Given the description of an element on the screen output the (x, y) to click on. 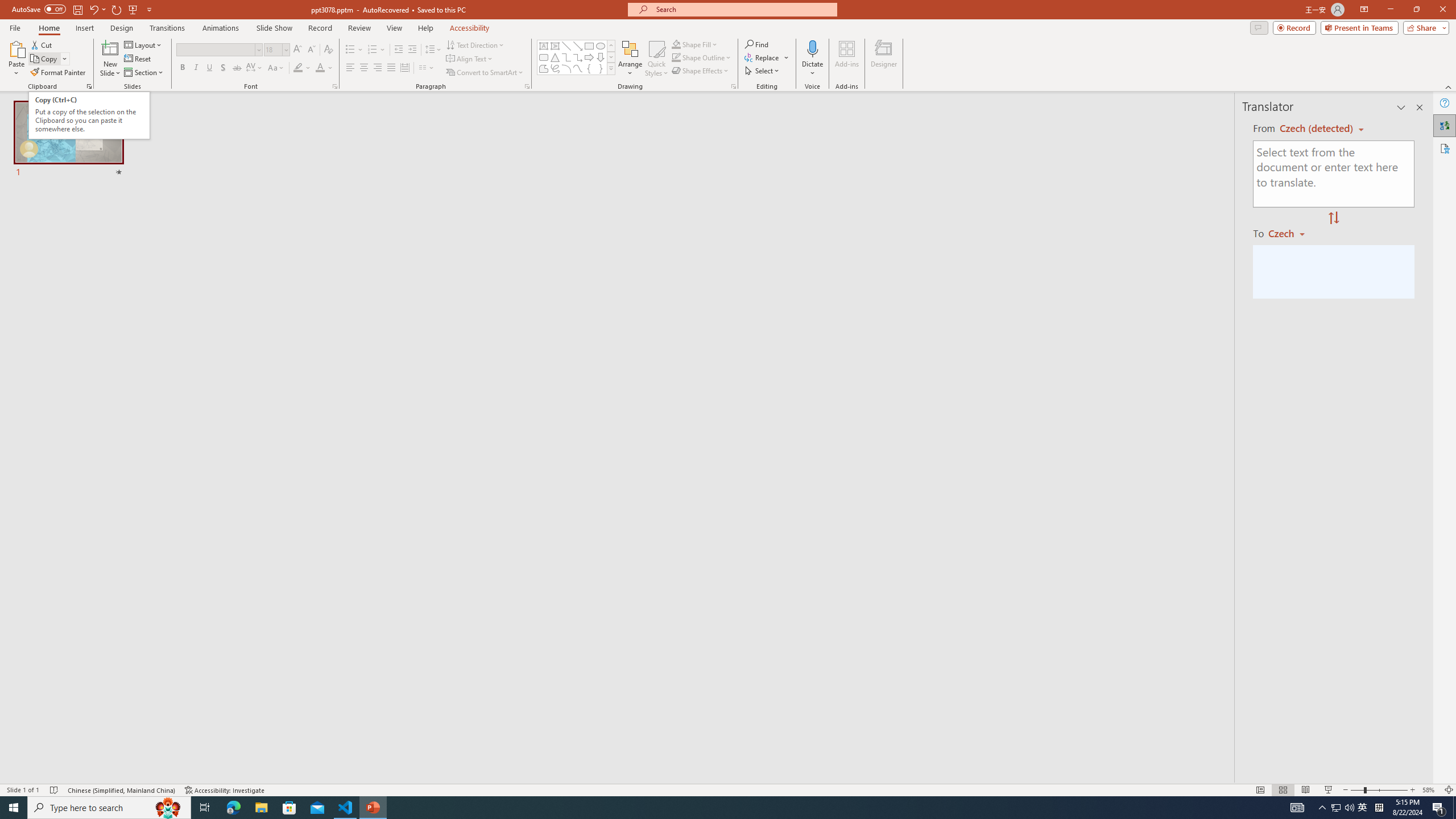
Font Size (273, 49)
Freeform: Scribble (554, 68)
Share (1423, 27)
Arrow: Right (589, 57)
Columns (426, 67)
Numbering (376, 49)
Close (1442, 9)
Save (77, 9)
Zoom Out (1357, 790)
Replace... (767, 56)
Swap "from" and "to" languages. (1333, 218)
Class: NetUIImage (610, 68)
Select (762, 69)
Dictate (812, 58)
Ribbon Display Options (1364, 9)
